Given the description of an element on the screen output the (x, y) to click on. 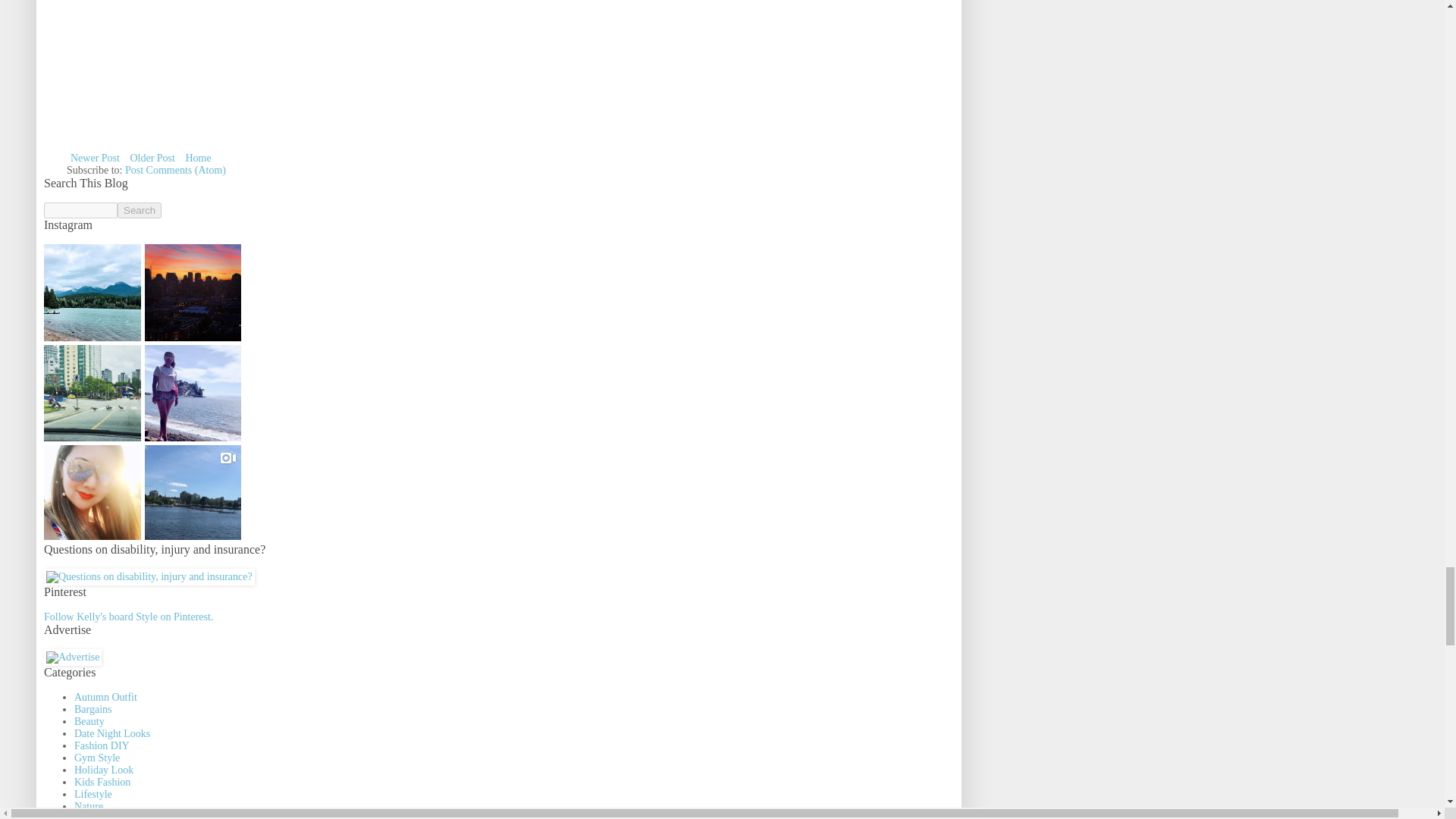
search (139, 210)
Newer Post (94, 157)
Older Post (152, 157)
Older Post (152, 157)
Home (197, 157)
Search (139, 210)
Newer Post (94, 157)
search (80, 210)
Search (139, 210)
